Given the description of an element on the screen output the (x, y) to click on. 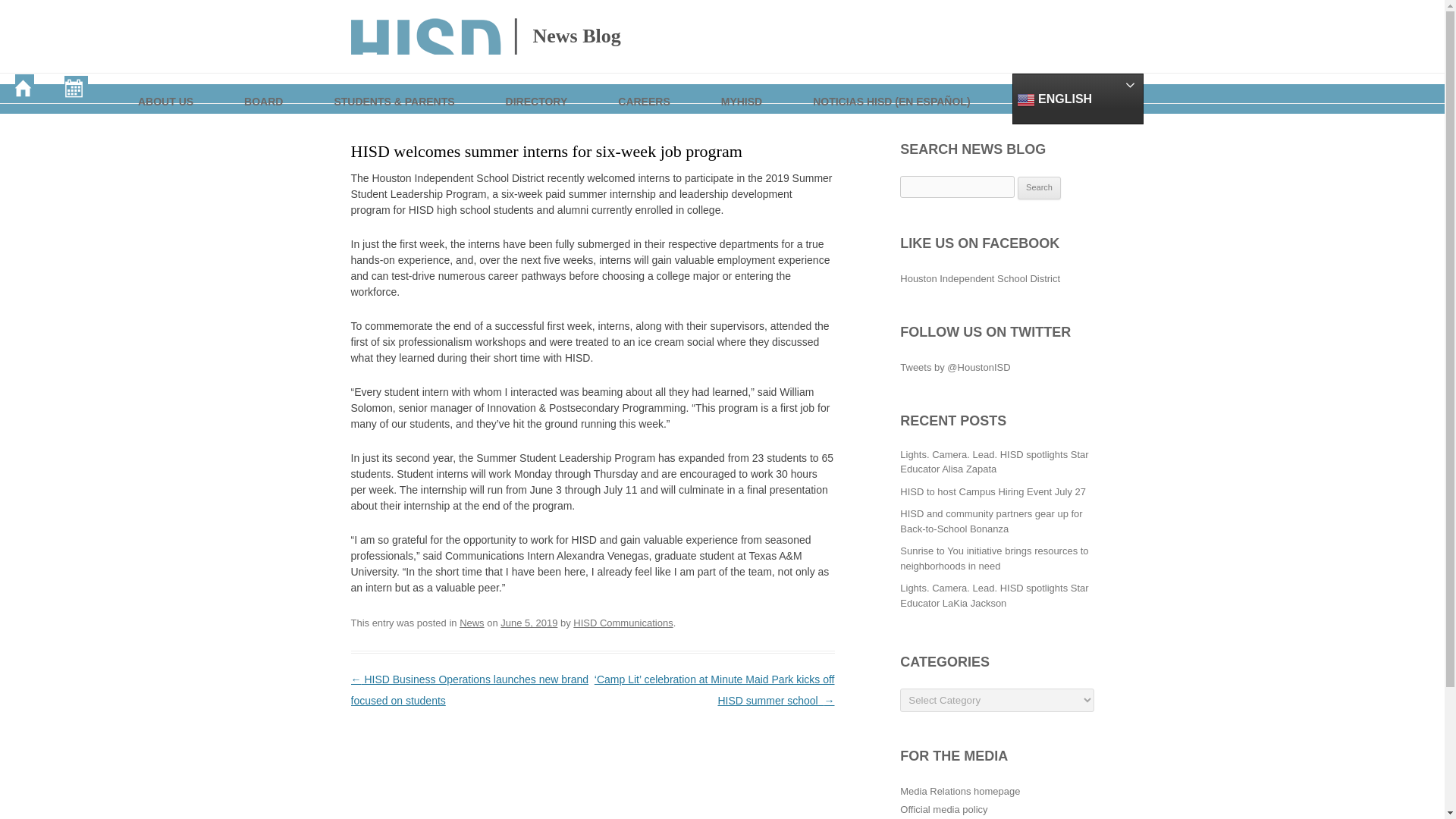
BOARD (264, 88)
News (471, 622)
ABOUT US (167, 88)
HISD to host Campus Hiring Event July 27 (992, 491)
Official media policy (943, 808)
10:48 am (528, 622)
Media Relations homepage (959, 790)
Houston Independent School District (979, 278)
ENGLISH (1076, 98)
MYHISD (742, 88)
HISD Communications (622, 622)
